Given the description of an element on the screen output the (x, y) to click on. 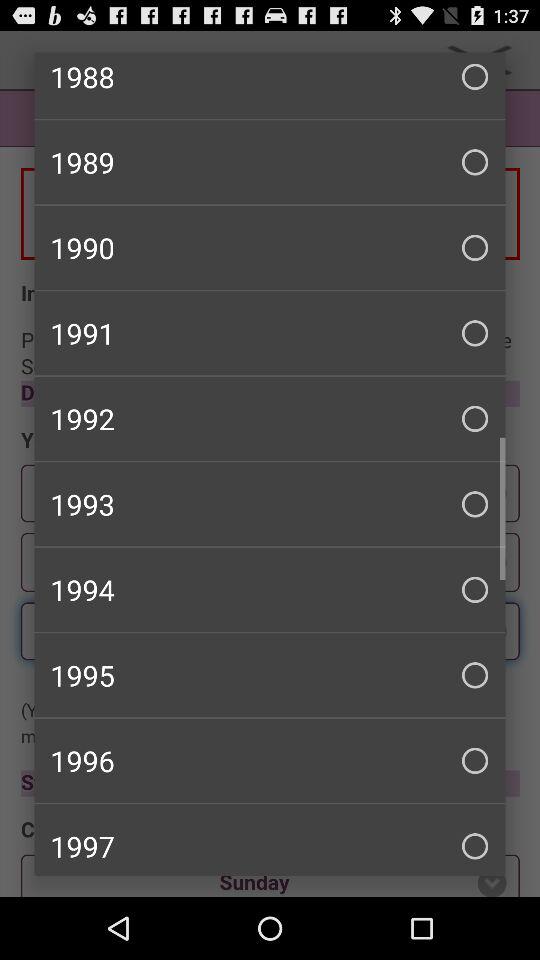
choose the item below 1993 checkbox (269, 589)
